Given the description of an element on the screen output the (x, y) to click on. 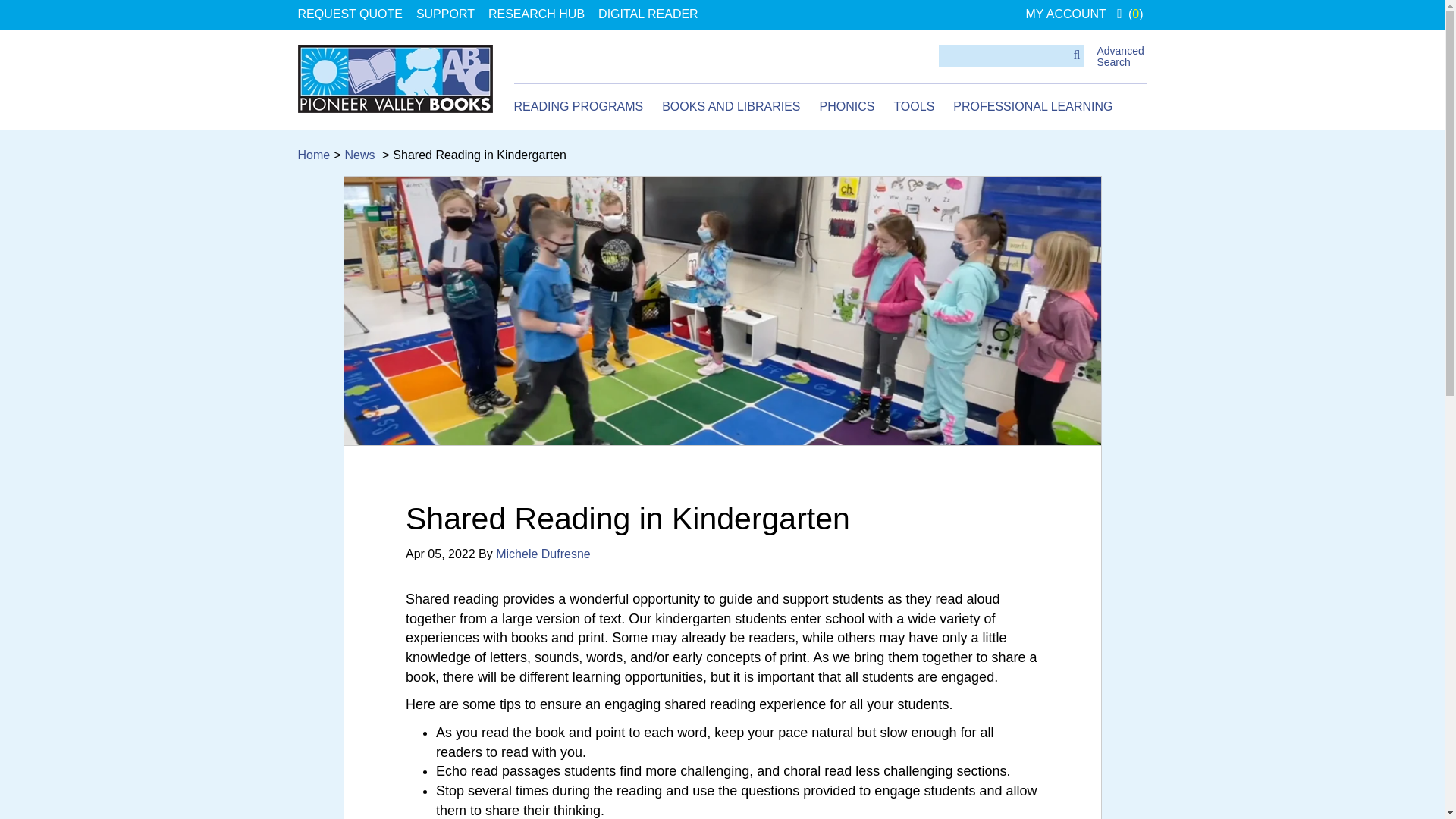
PHONICS (846, 107)
RESEARCH HUB (536, 13)
Advanced Search (1119, 56)
MY ACCOUNT (1065, 13)
SUPPORT (445, 13)
REQUEST QUOTE (349, 13)
0 (1129, 13)
READING PROGRAMS (578, 107)
DIGITAL READER (648, 13)
BOOKS AND LIBRARIES (730, 107)
